Given the description of an element on the screen output the (x, y) to click on. 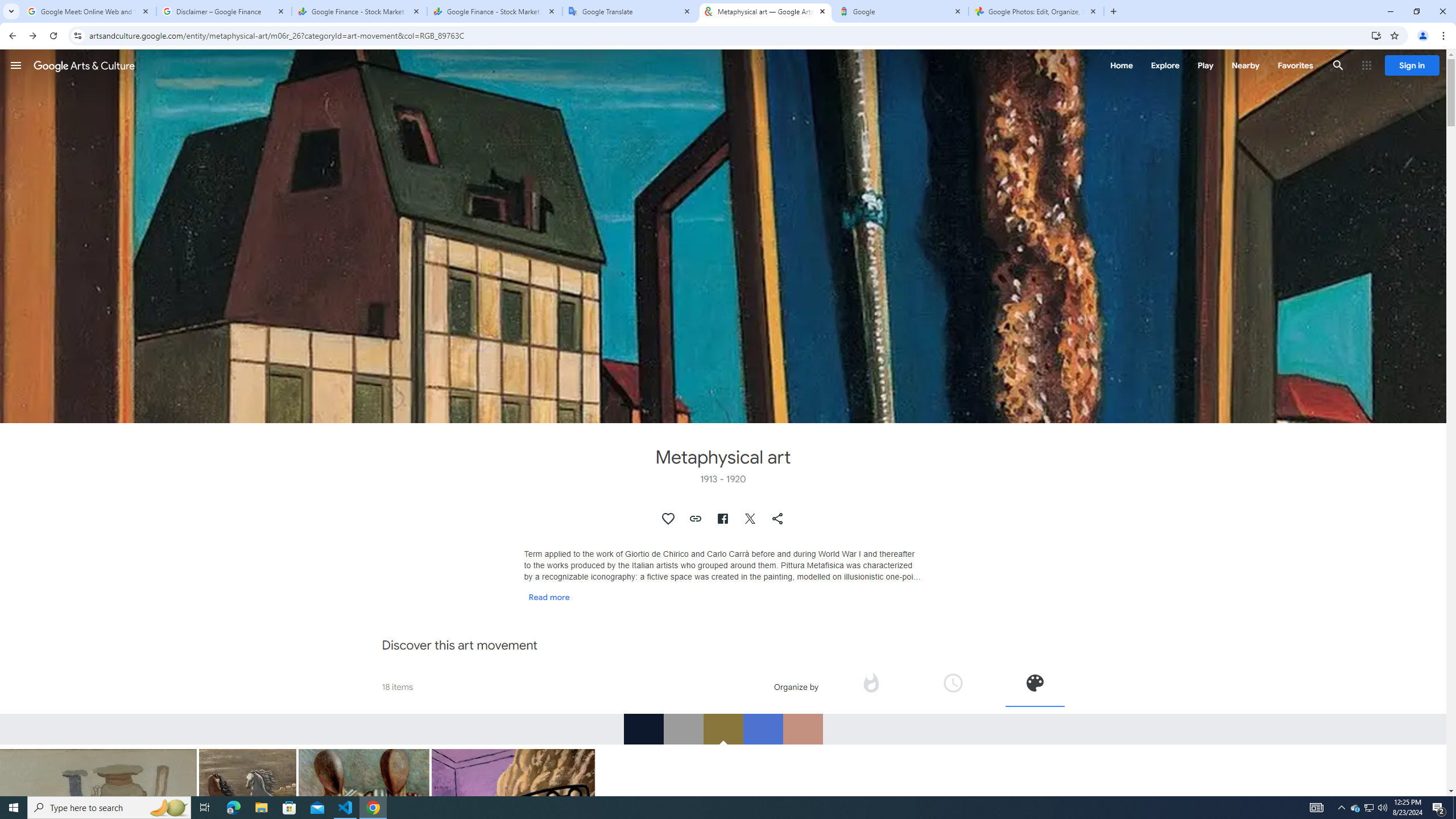
Organize by popularity (870, 682)
Menu (15, 65)
Explore (1164, 65)
RGB_0E182D (643, 728)
Organize by color (1034, 686)
Read more (549, 596)
Copy Link (695, 518)
RGB_C4907F (802, 728)
Home (1120, 65)
